Given the description of an element on the screen output the (x, y) to click on. 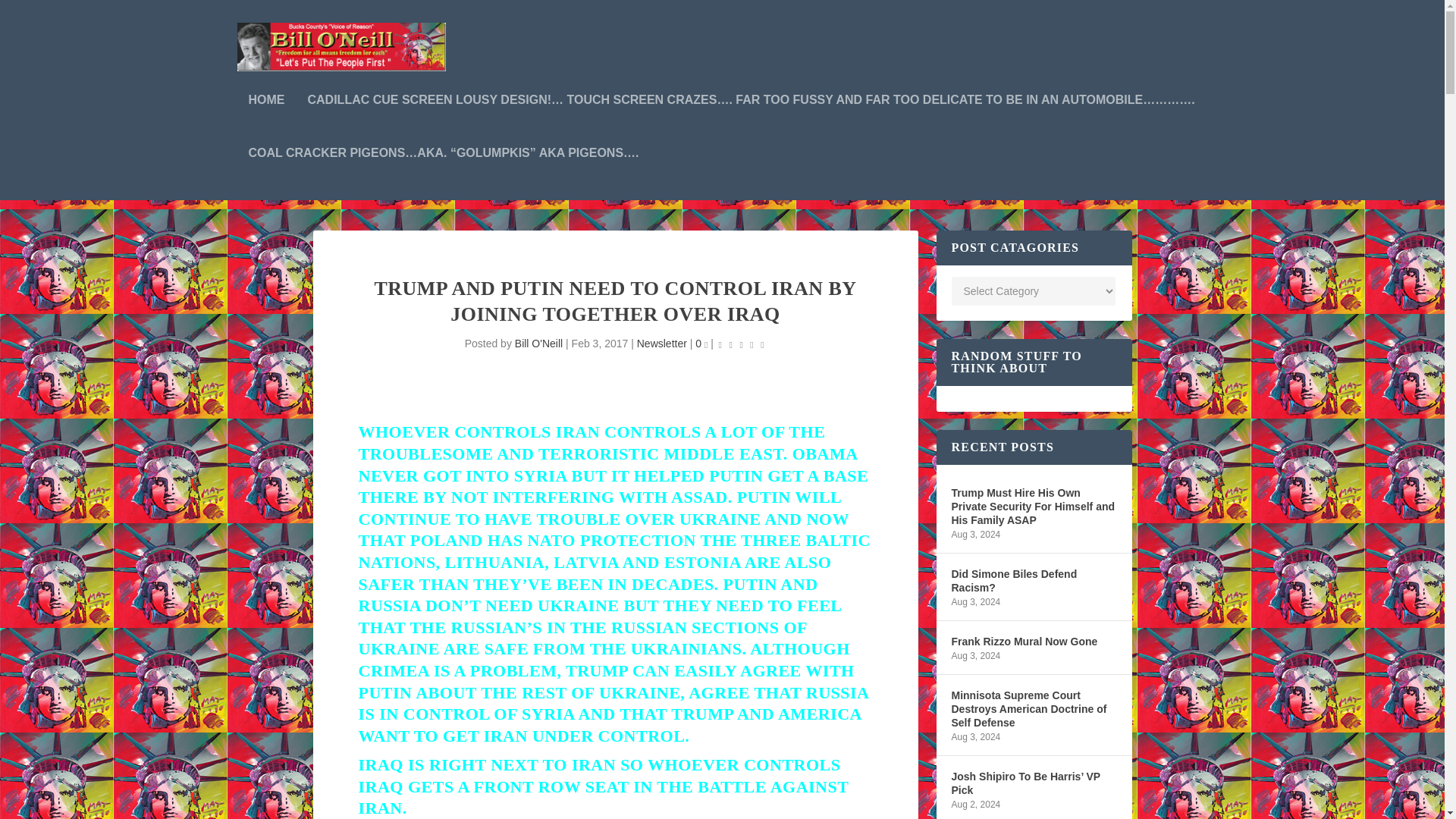
Posts by Bill O'Neill (538, 343)
0 (701, 343)
Frank Rizzo Mural Now Gone (1023, 641)
Did Simone Biles Defend Racism? (1033, 581)
Rating: 0.00 (741, 343)
Newsletter (662, 343)
Bill O'Neill (538, 343)
